Given the description of an element on the screen output the (x, y) to click on. 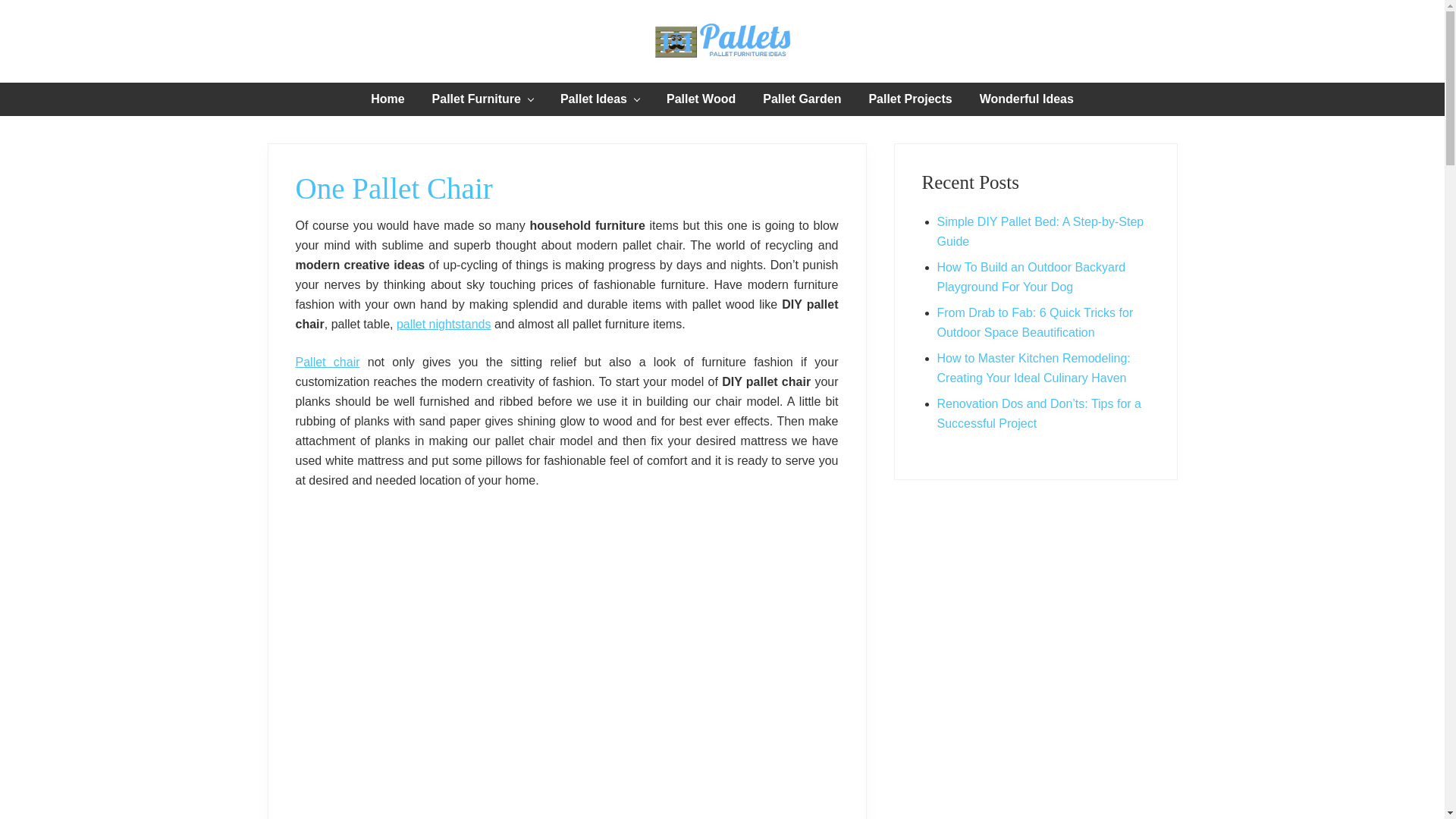
Pallet Furniture (483, 99)
DIY Comfortable Wooden Pallet Patio Chair (327, 361)
Home (386, 99)
Add Beauty and Decor to Room with Pallet Nightstands (444, 323)
